Given the description of an element on the screen output the (x, y) to click on. 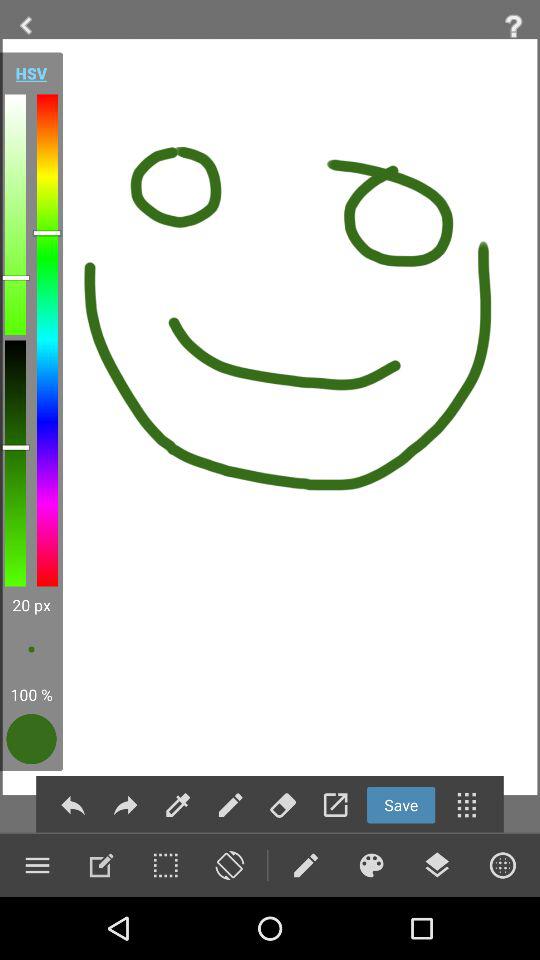
go back (26, 26)
